Given the description of an element on the screen output the (x, y) to click on. 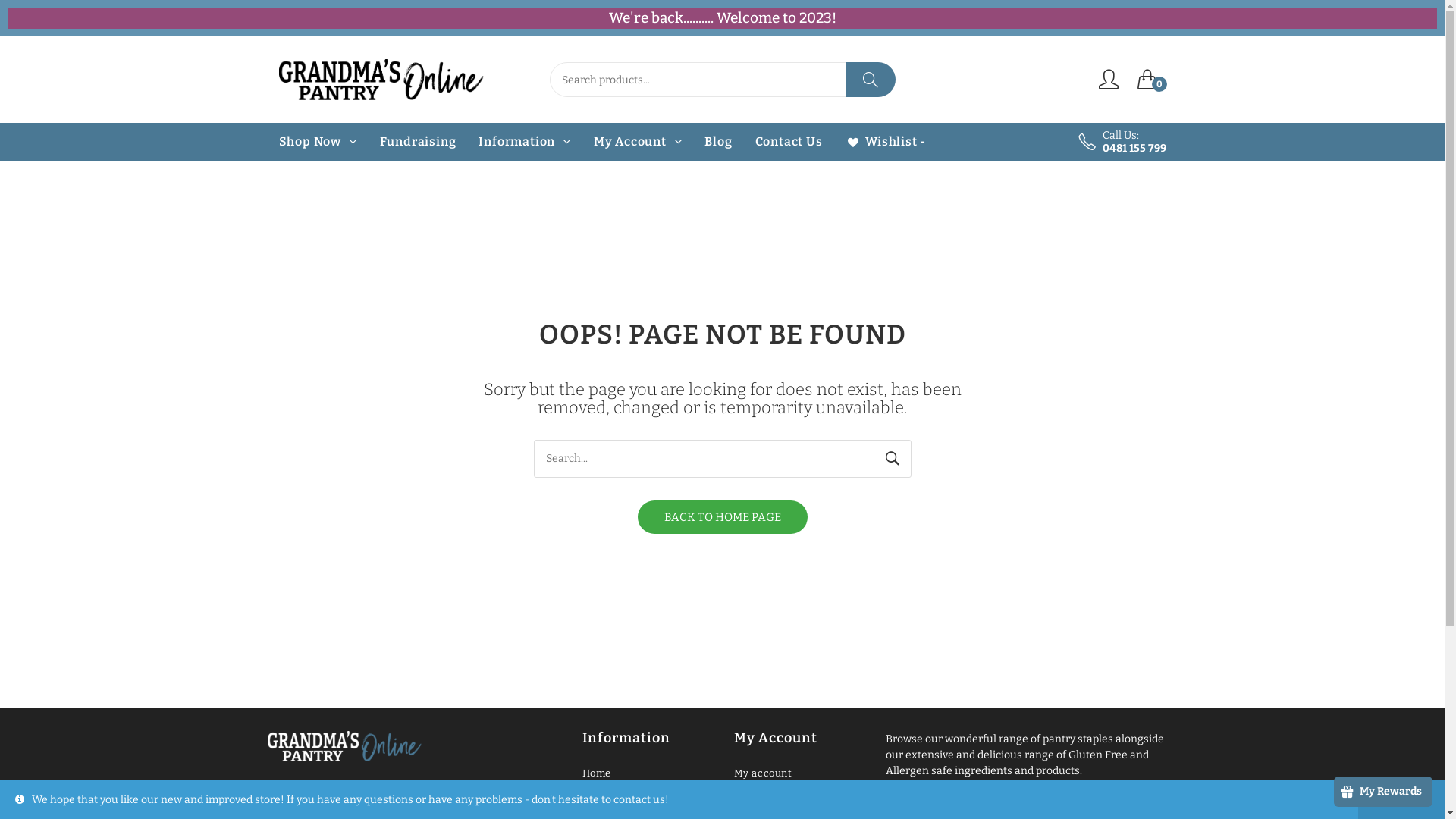
Wishlist - Element type: text (886, 141)
SEARCH Element type: text (870, 79)
Blog Element type: text (718, 141)
BACK TO HOME PAGE Element type: text (721, 516)
My account Element type: text (798, 773)
My Account Element type: text (637, 141)
Shop Now Element type: text (316, 141)
Shop Element type: text (646, 800)
Fundraising Element type: text (417, 141)
SEARCH Element type: text (892, 458)
We're back.......... Welcome to 2023! Element type: text (721, 17)
My Checkout Element type: text (798, 800)
0481 155 799 Element type: text (1134, 147)
Home Element type: text (646, 773)
0 Element type: text (1151, 78)
Contact Us Element type: text (788, 141)
Information Element type: text (524, 141)
